Given the description of an element on the screen output the (x, y) to click on. 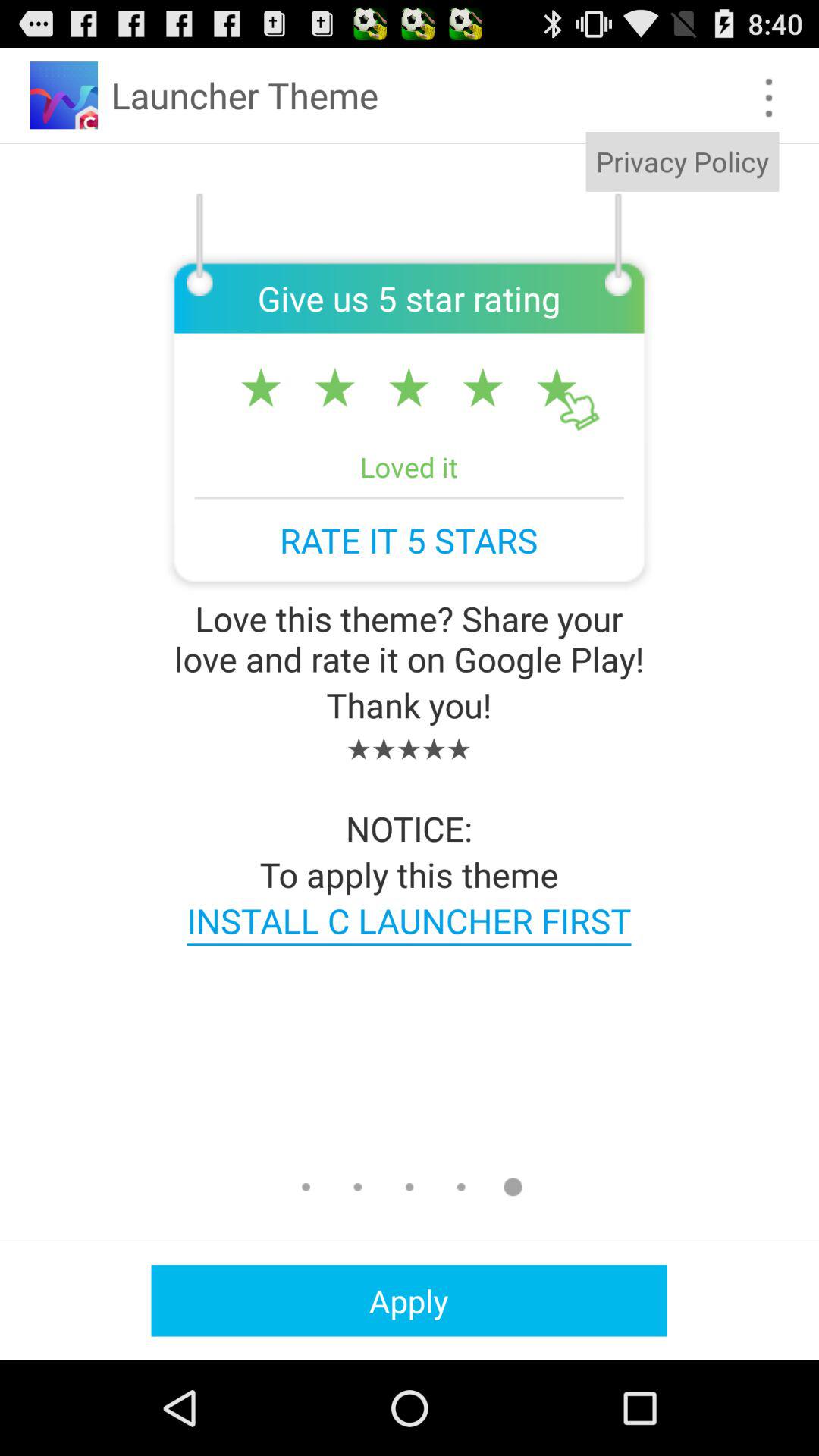
turn on the icon below the to apply this app (409, 920)
